Given the description of an element on the screen output the (x, y) to click on. 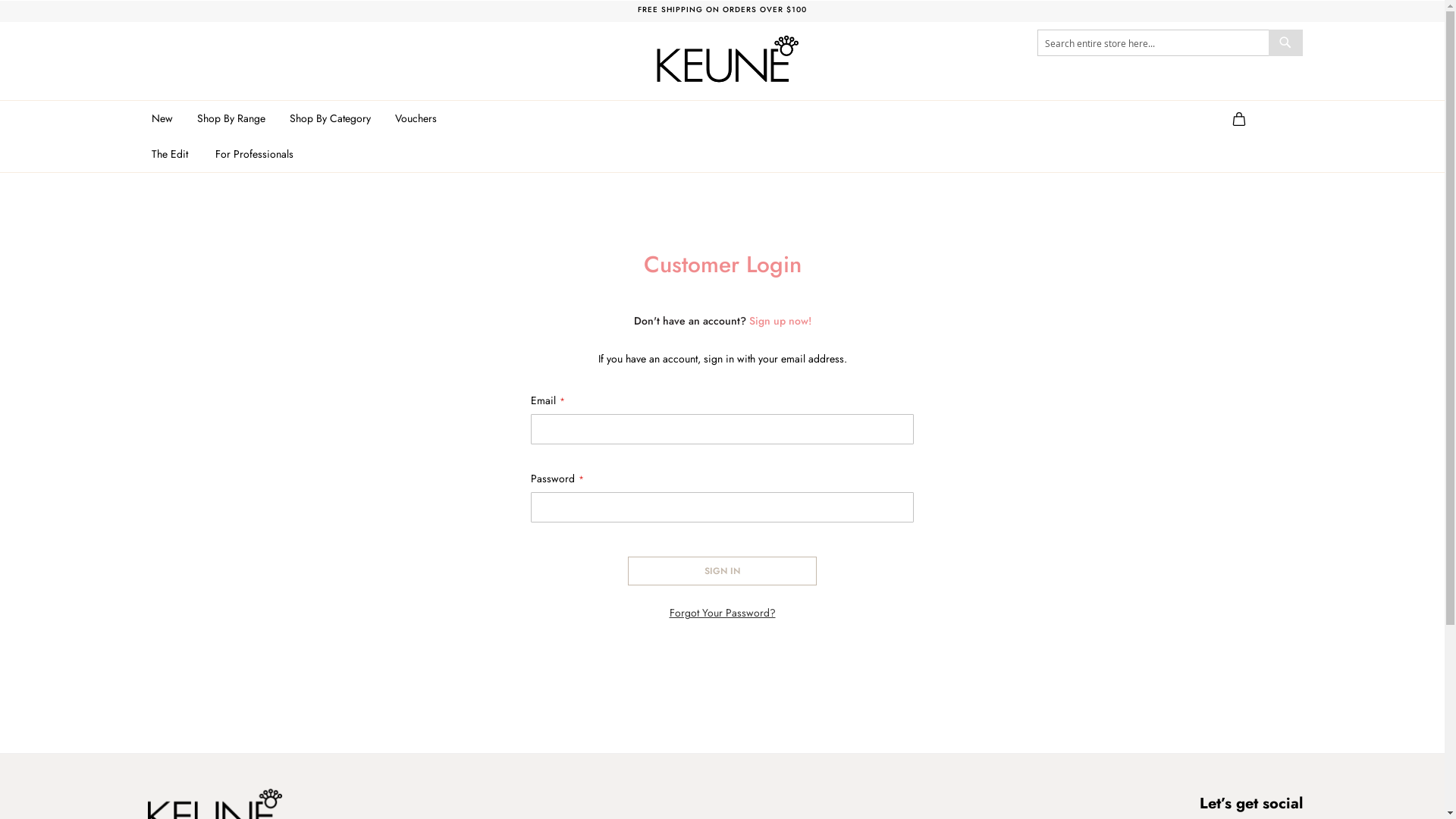
New Element type: text (165, 118)
Email Element type: hover (721, 429)
Vouchers Element type: text (415, 118)
Shop By Range Element type: text (234, 118)
Sign up now! Element type: text (780, 320)
For Professionals Element type: text (257, 154)
Keune Haircosmetics Element type: hover (722, 55)
Password Element type: hover (721, 507)
SIGN IN Element type: text (721, 570)
The Edit Element type: text (172, 154)
Shop By Category Element type: text (332, 118)
Forgot Your Password? Element type: text (721, 612)
Search Element type: text (1284, 42)
Keune Haircosmetics Element type: hover (721, 57)
